Given the description of an element on the screen output the (x, y) to click on. 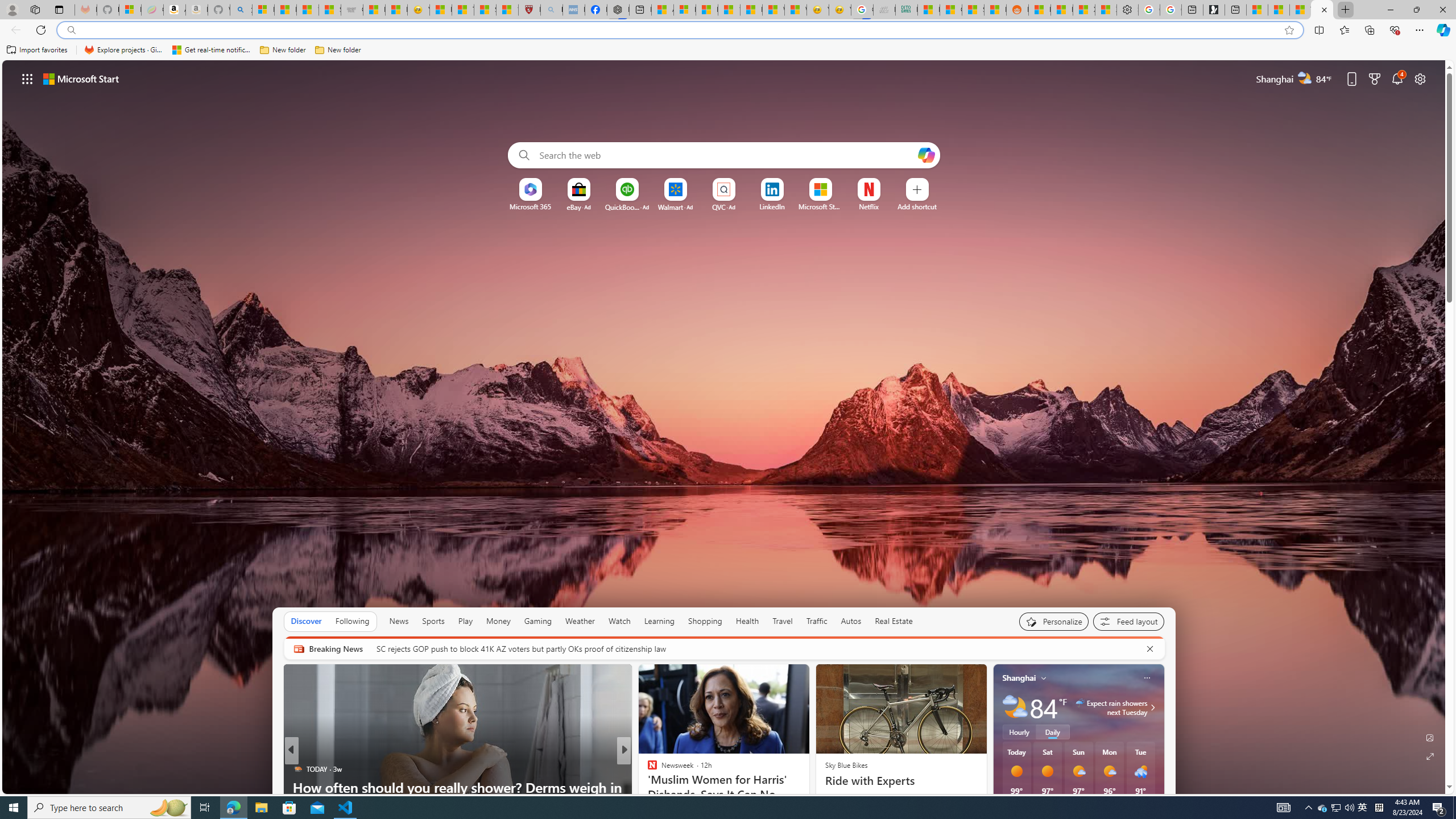
Learning (659, 621)
Travel (782, 621)
Sunny (1047, 771)
14 Common Myths Debunked By Scientific Facts (729, 9)
Netflix (869, 206)
Import favorites (36, 49)
Metro (647, 768)
Partly cloudy (1014, 707)
